Given the description of an element on the screen output the (x, y) to click on. 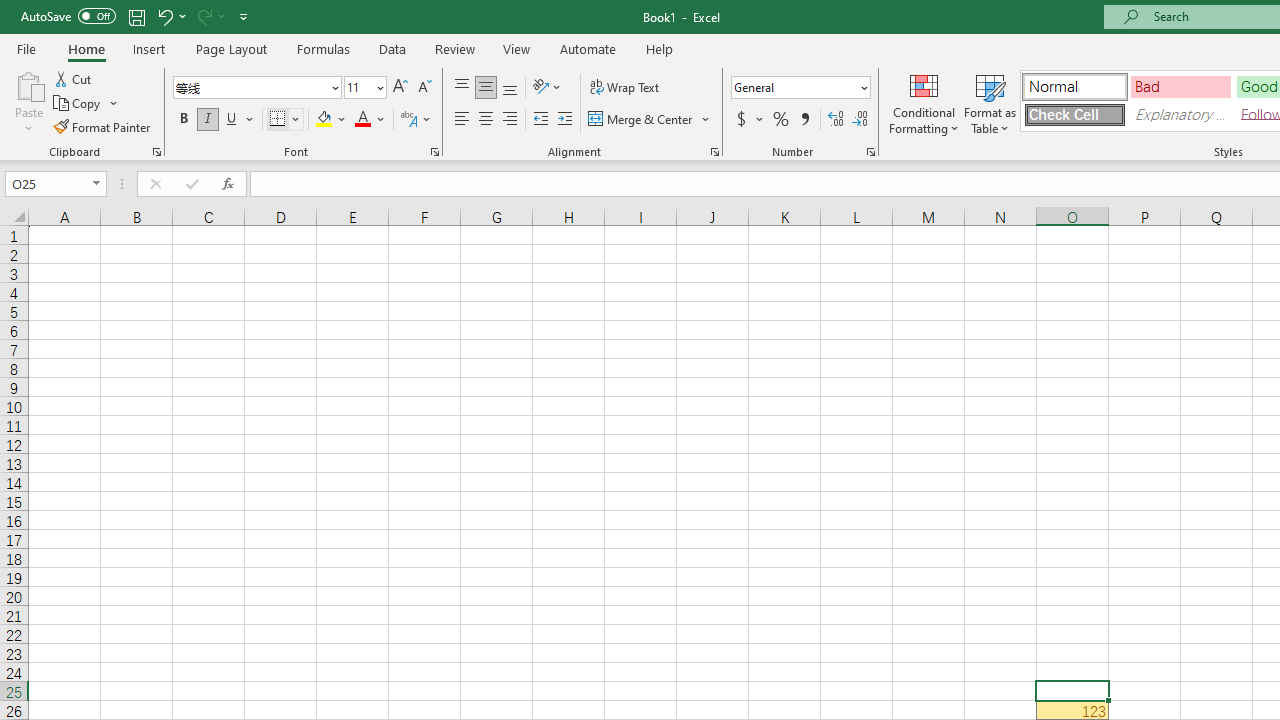
Format Cell Number (870, 151)
Number Format (794, 87)
Increase Font Size (399, 87)
Format Cell Font (434, 151)
